Given the description of an element on the screen output the (x, y) to click on. 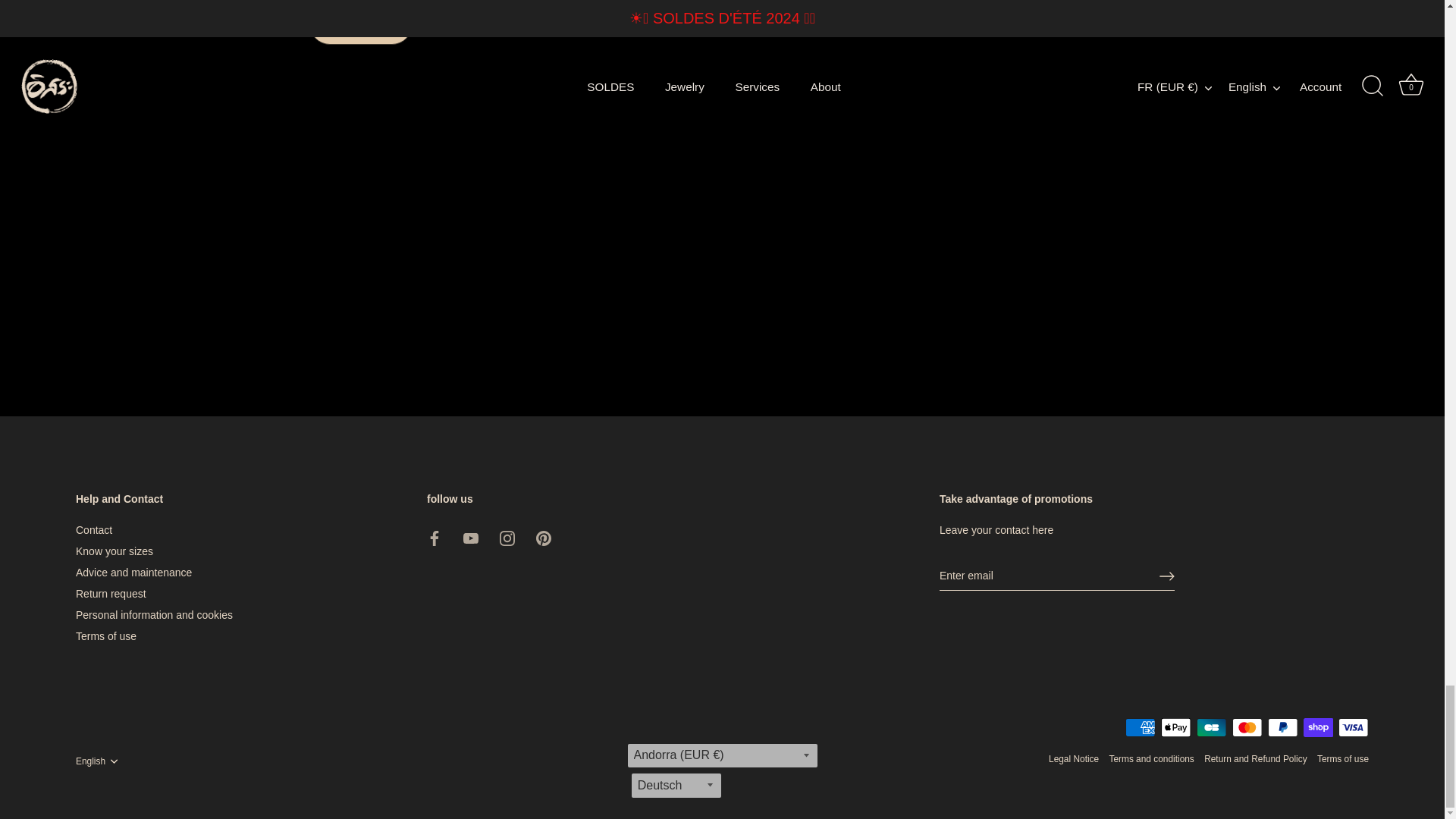
Visa (1353, 651)
PayPal (1282, 651)
Youtube (471, 462)
American Express (1140, 651)
Cartes Bancaires (1210, 651)
Apple Pay (1175, 651)
Pinterest (543, 462)
Mastercard (1246, 651)
Shop Pay (1318, 651)
RIGHT ARROW LONG (1166, 500)
Instagram (507, 462)
